Given the description of an element on the screen output the (x, y) to click on. 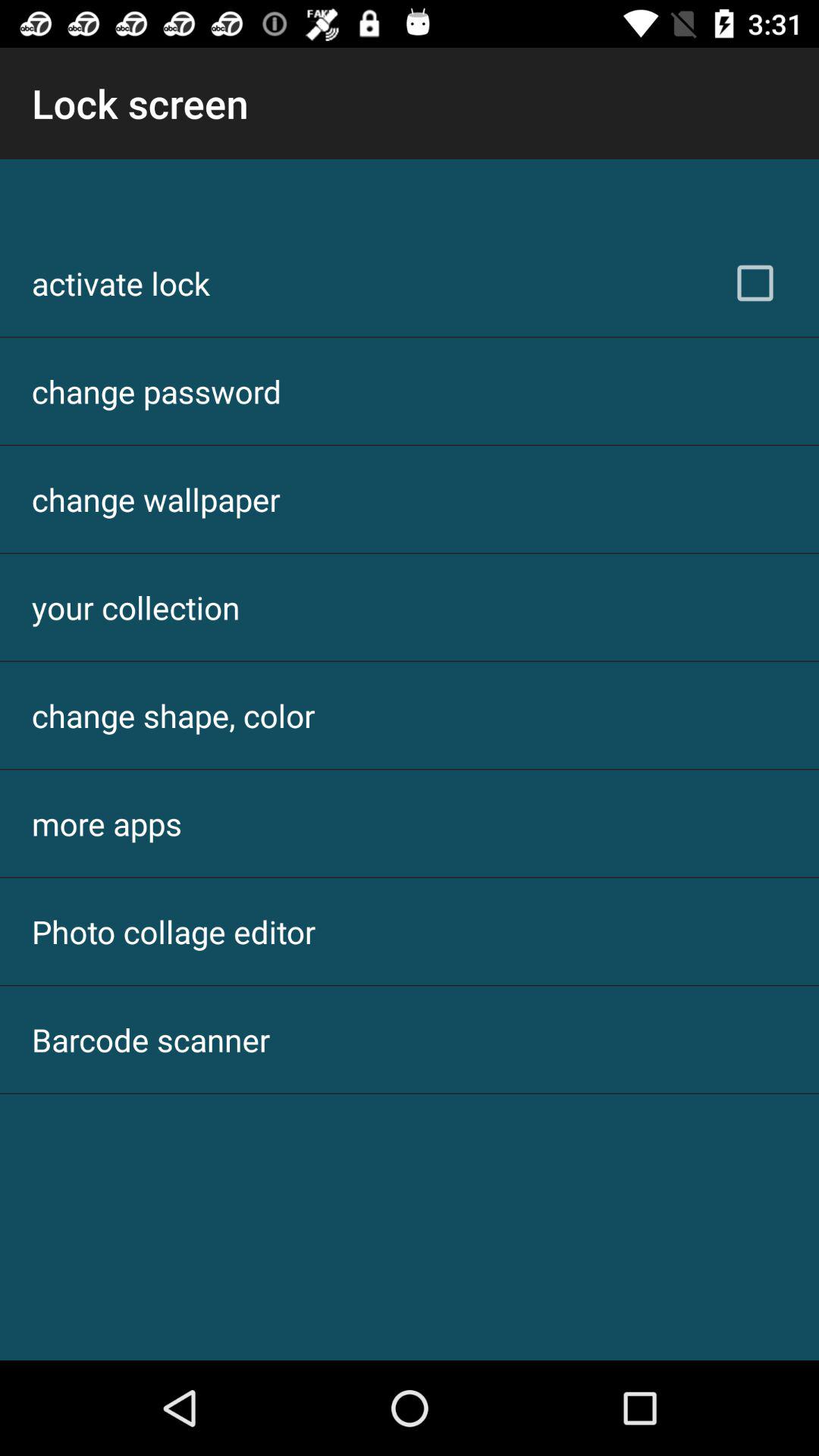
open the icon above the photo collage editor item (106, 823)
